Given the description of an element on the screen output the (x, y) to click on. 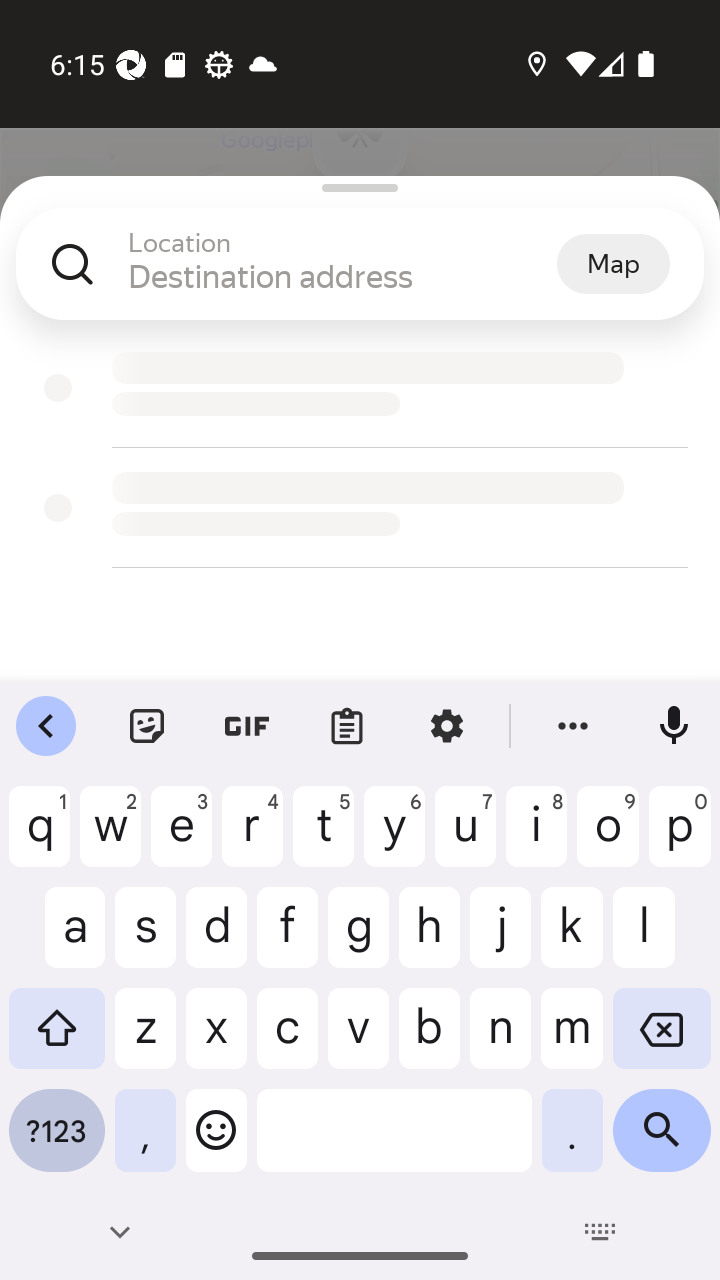
Location Destination address Map (360, 280)
Map (613, 263)
Destination address (341, 276)
